Given the description of an element on the screen output the (x, y) to click on. 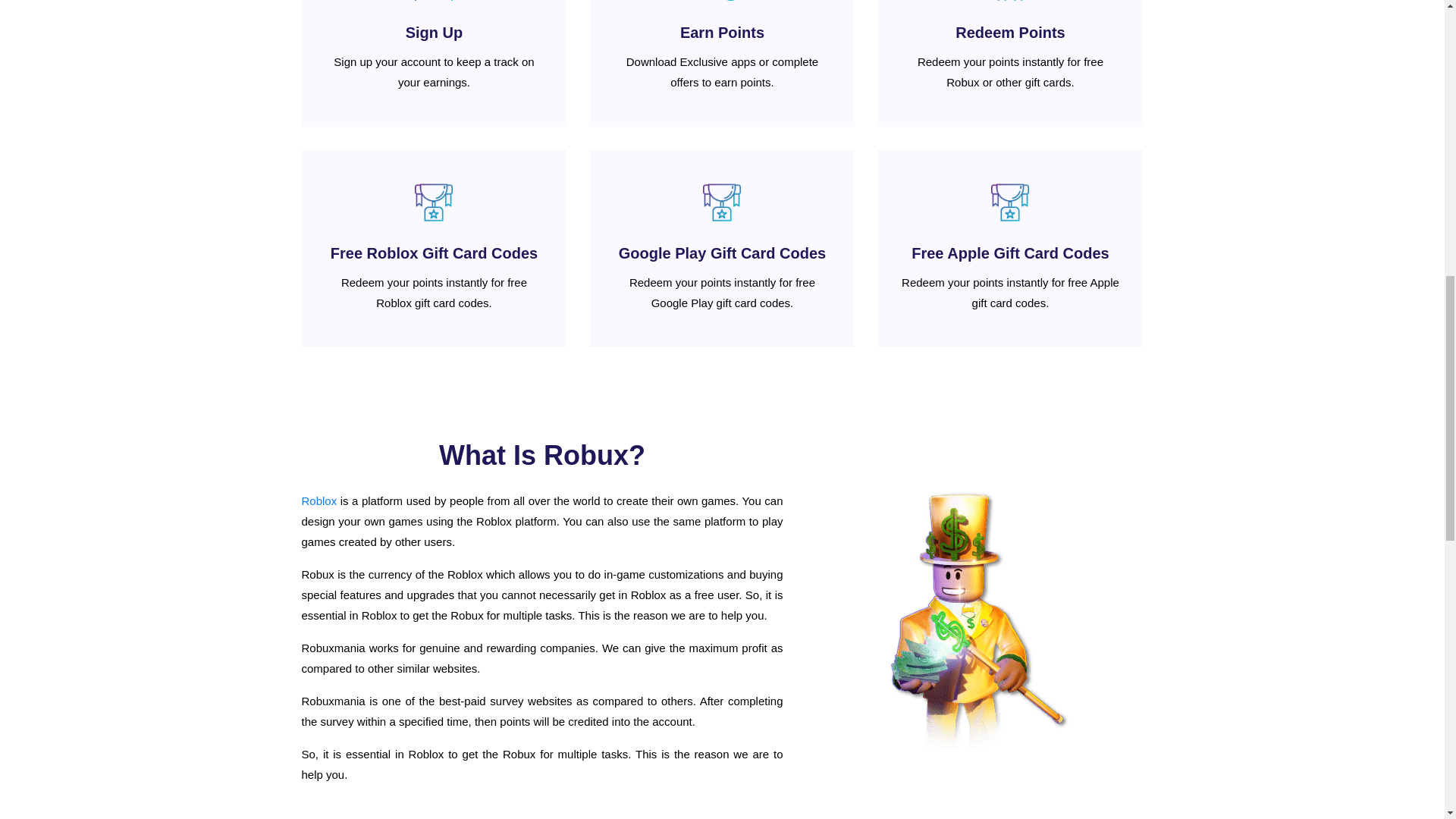
Roblox (319, 500)
